Given the description of an element on the screen output the (x, y) to click on. 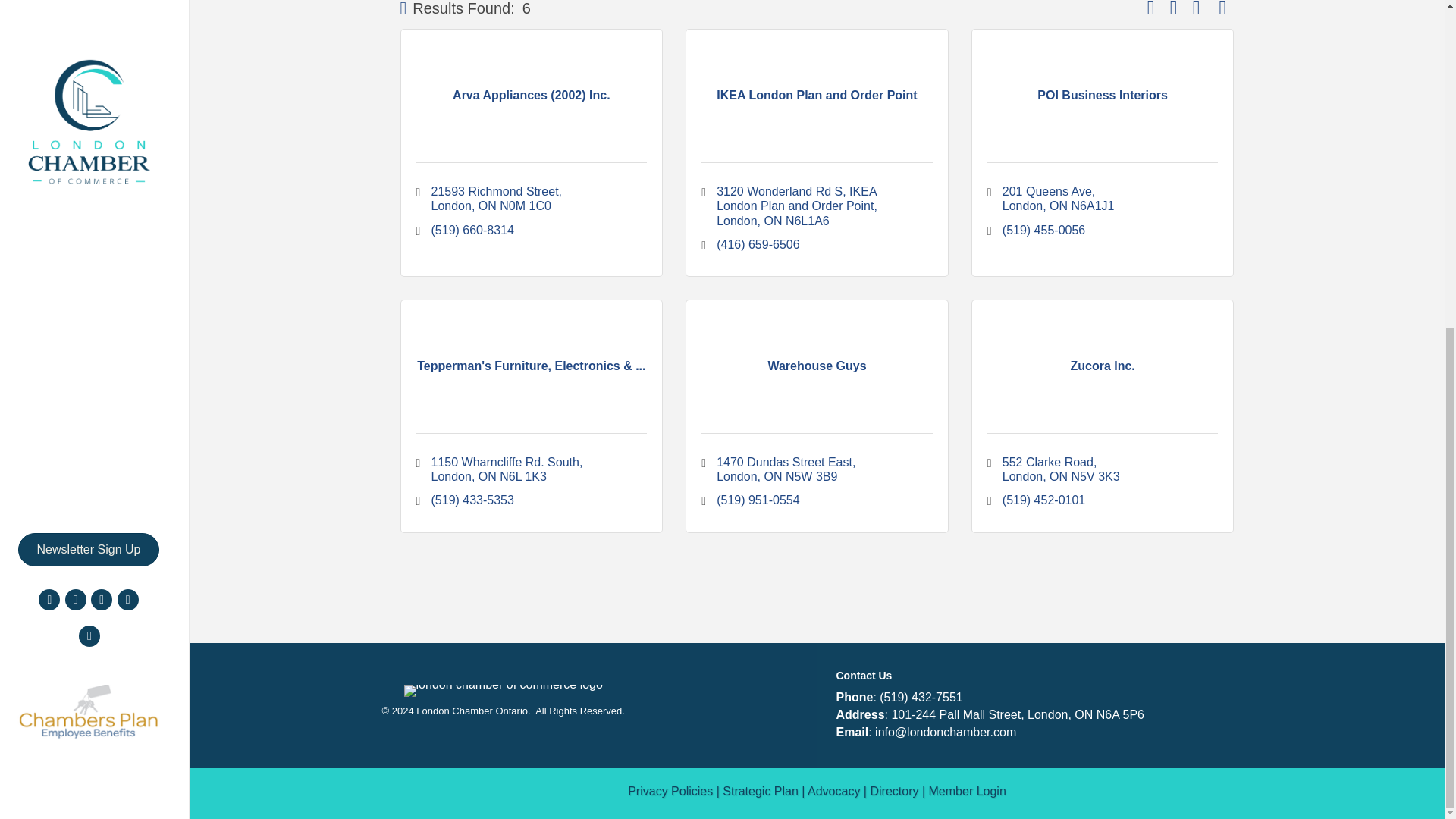
Print (1173, 11)
Sort by Z-A (1150, 11)
View on Map (1196, 11)
List View (1222, 11)
Newsletter Sign Up (88, 13)
